Given the description of an element on the screen output the (x, y) to click on. 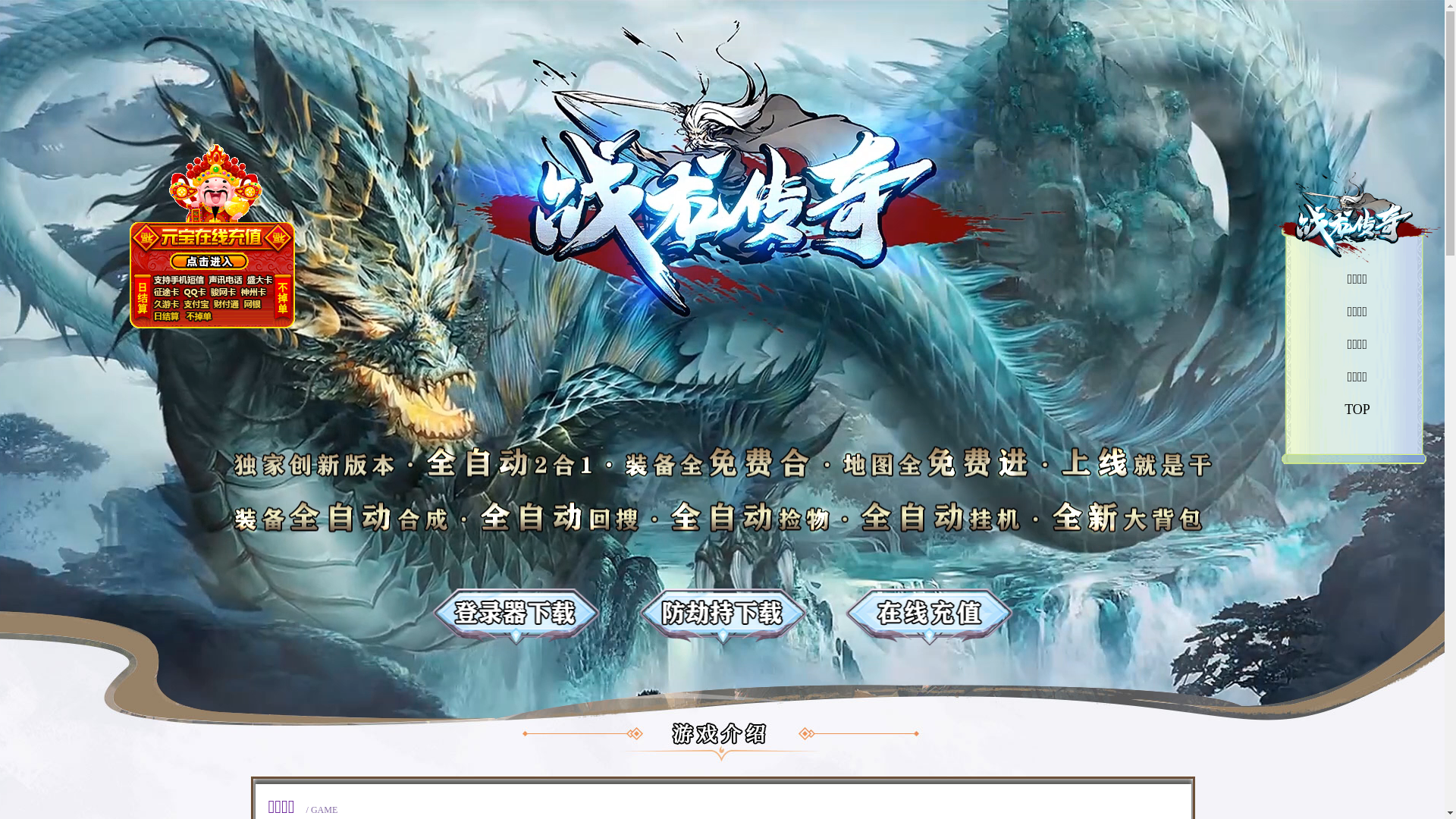
TOP Element type: text (1357, 409)
